Given the description of an element on the screen output the (x, y) to click on. 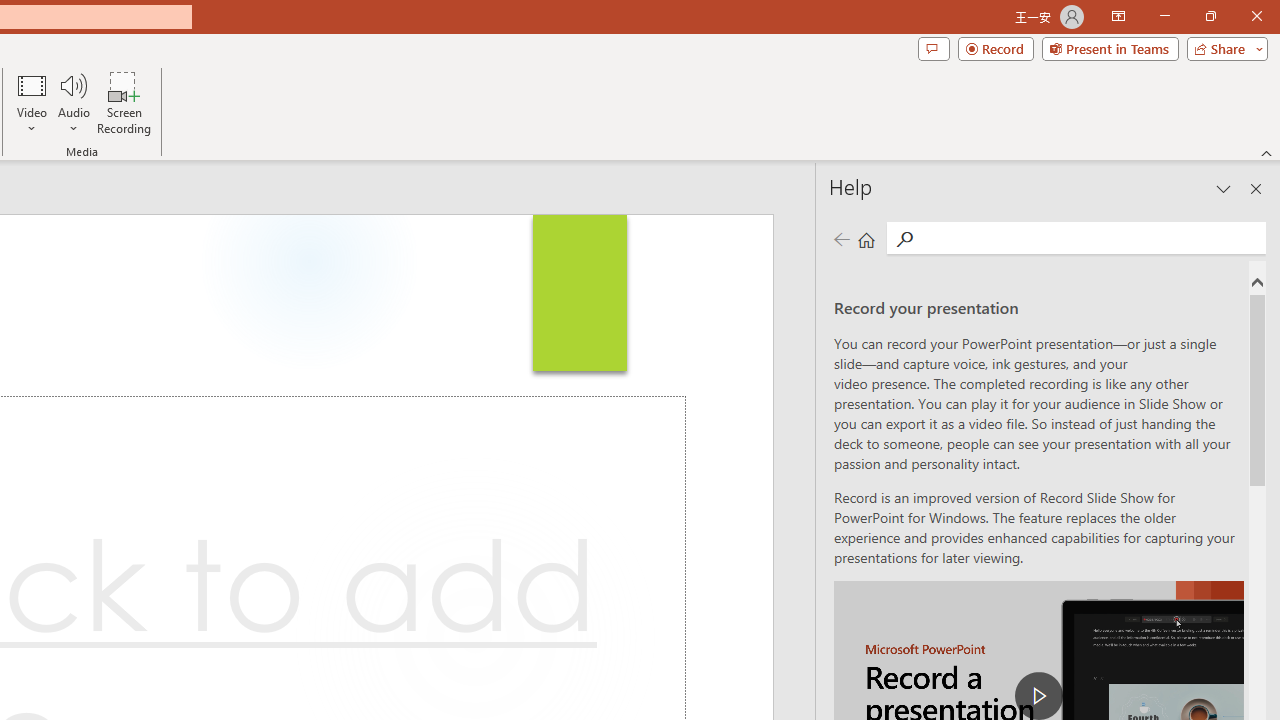
play Record a Presentation (1038, 695)
